Given the description of an element on the screen output the (x, y) to click on. 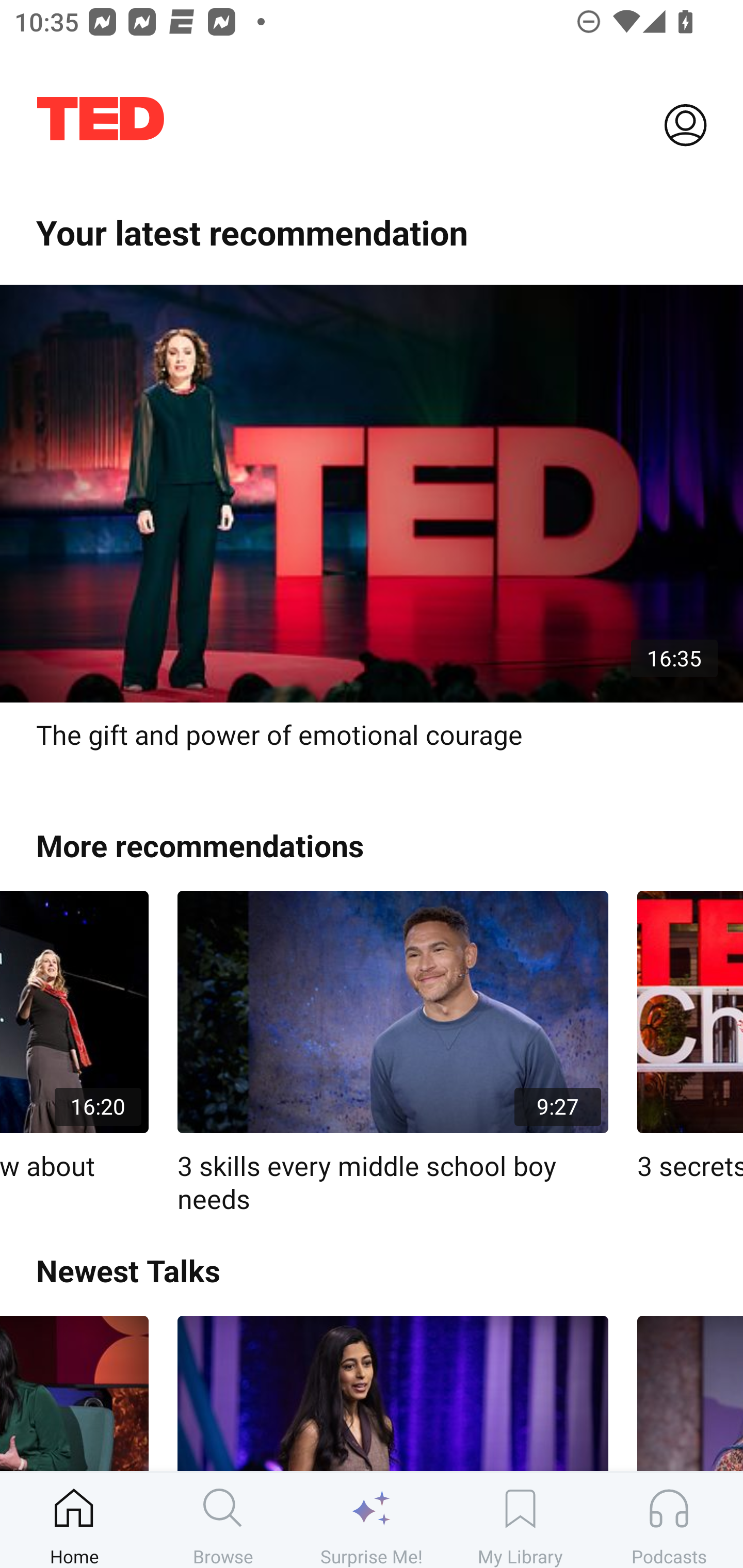
9:27 3 skills every middle school boy needs (392, 1053)
Home (74, 1520)
Browse (222, 1520)
Surprise Me! (371, 1520)
My Library (519, 1520)
Podcasts (668, 1520)
